Given the description of an element on the screen output the (x, y) to click on. 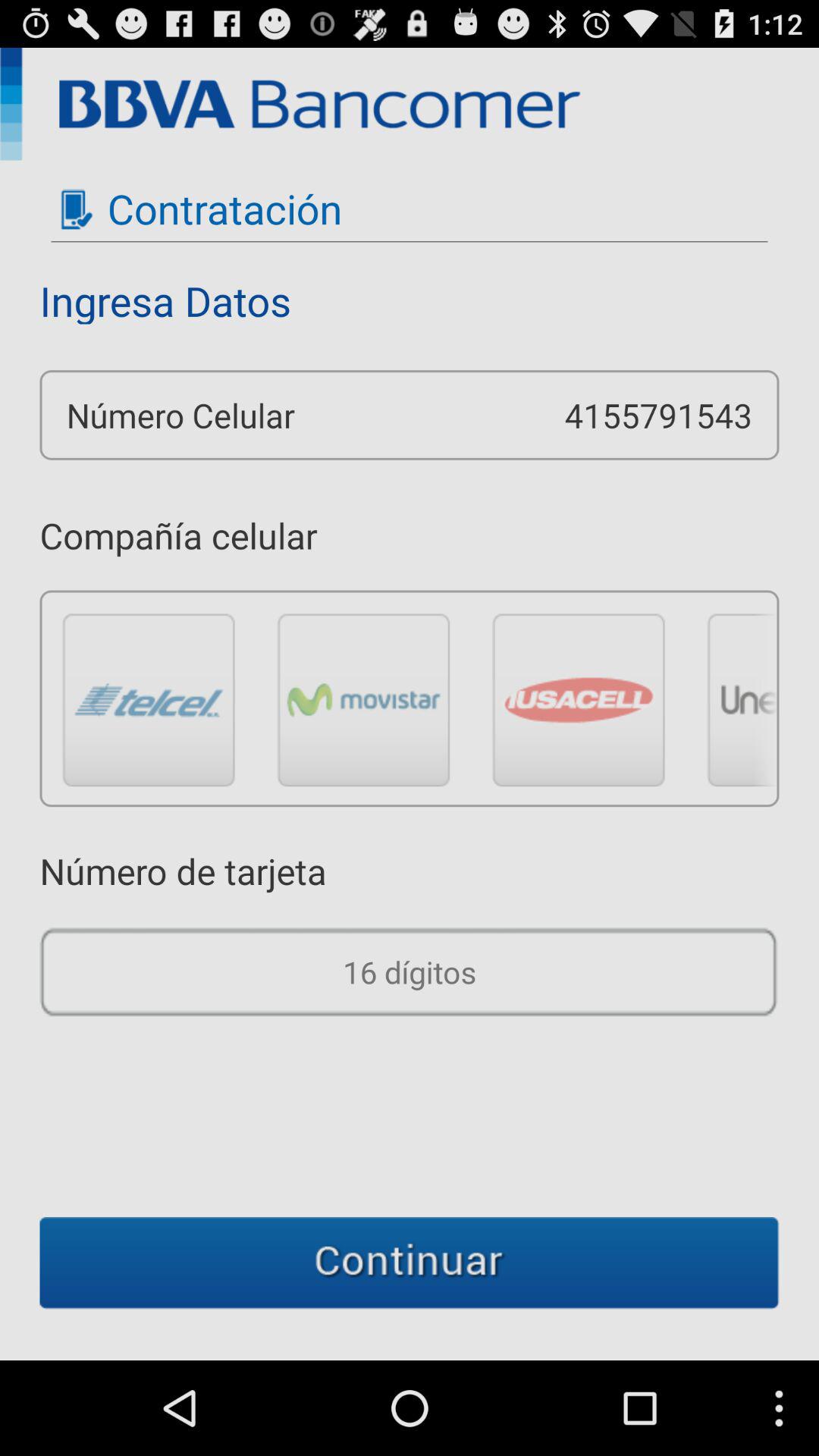
go to continue (409, 1263)
